Given the description of an element on the screen output the (x, y) to click on. 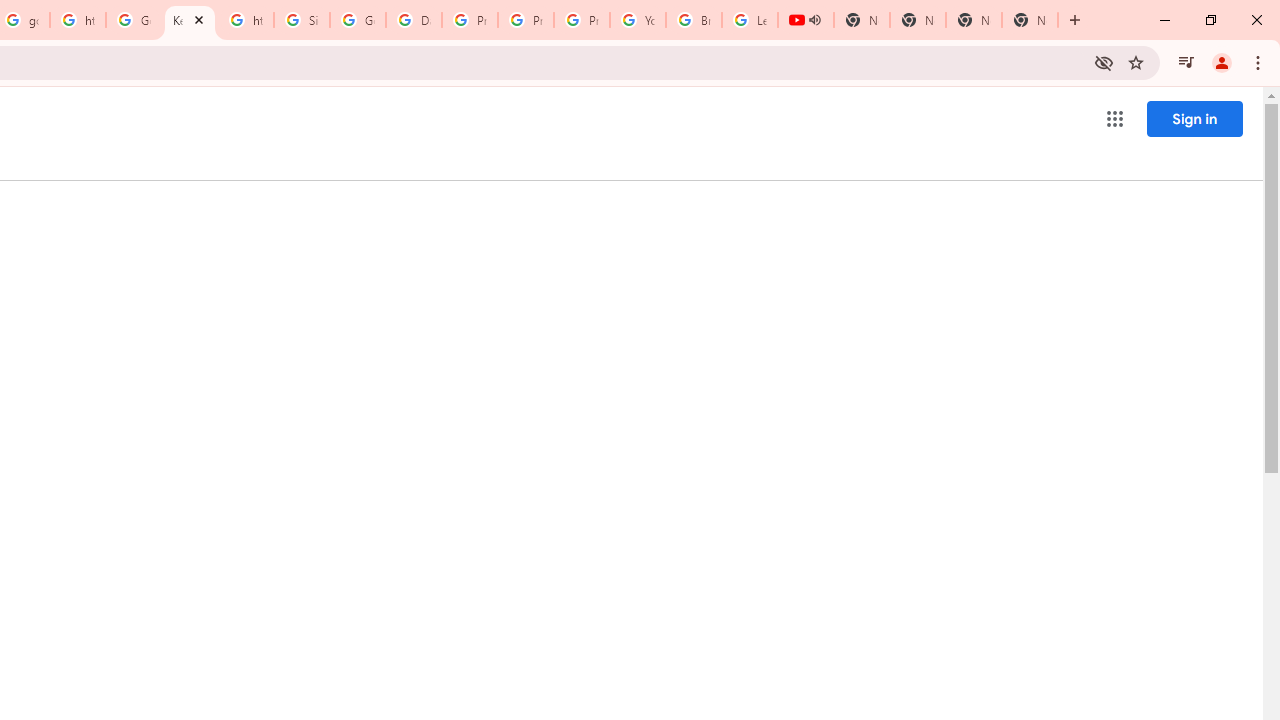
https://scholar.google.com/ (245, 20)
